Given the description of an element on the screen output the (x, y) to click on. 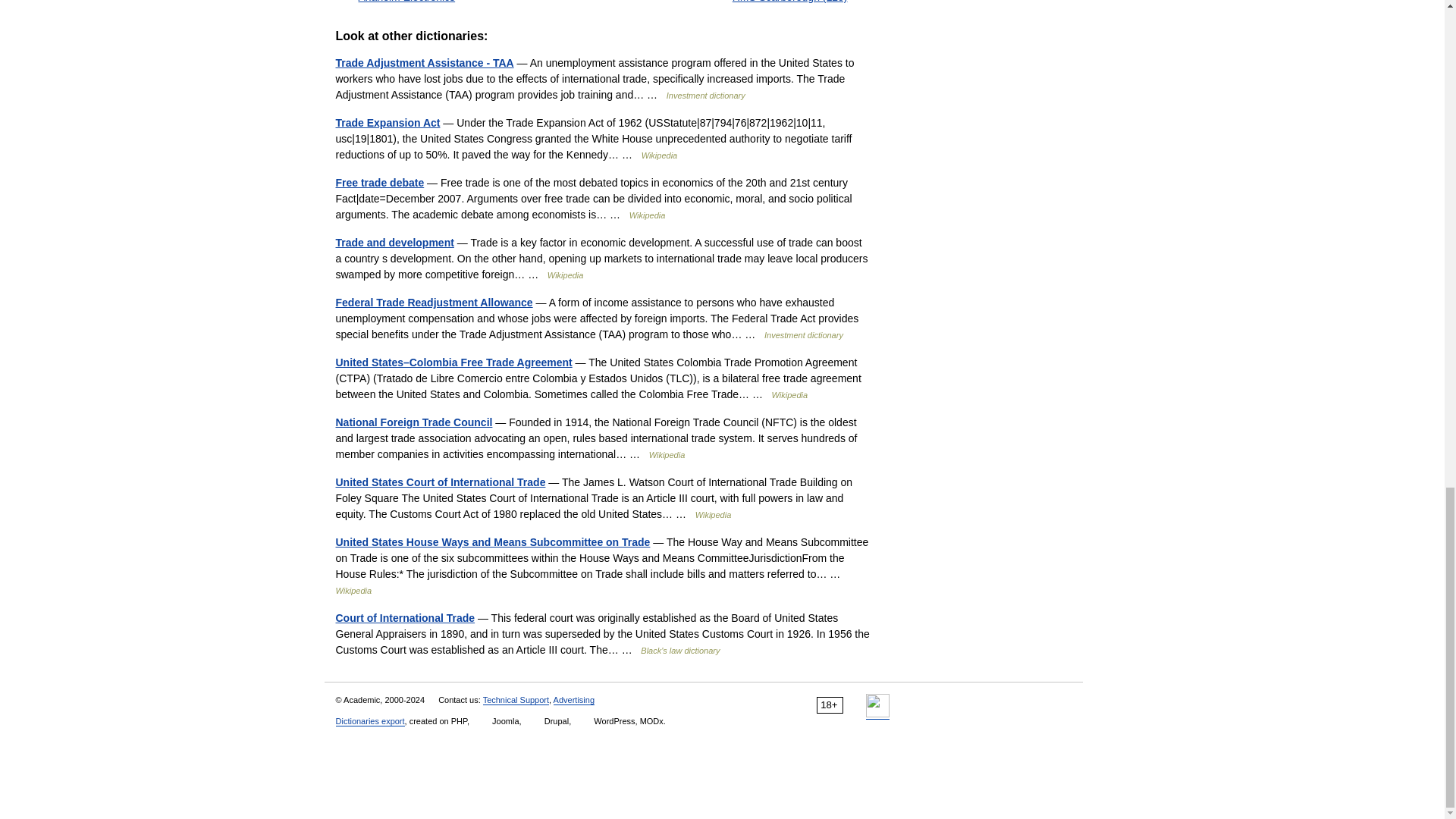
Trade Adjustment Assistance - TAA (423, 62)
Court of International Trade (404, 617)
Trade and development (393, 242)
United States Court of International Trade (439, 481)
Technical Support (515, 700)
Federal Trade Readjustment Allowance (433, 302)
Free trade debate (378, 182)
Anaheim Electronics (406, 1)
LiveInternet (877, 705)
United States House Ways and Means Subcommittee on Trade (491, 541)
